Given the description of an element on the screen output the (x, y) to click on. 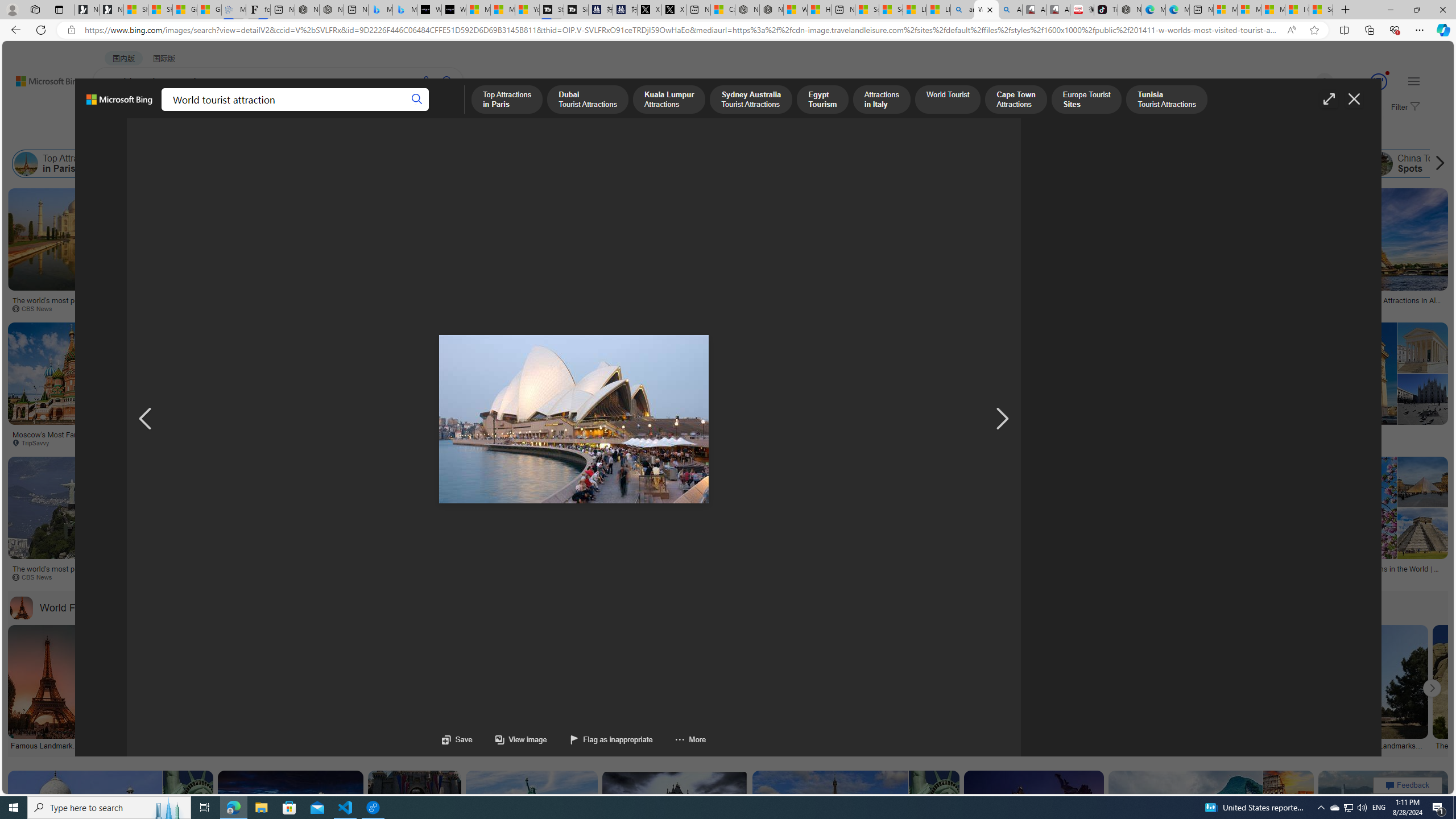
Feedback (1407, 785)
DICT (357, 111)
See more (801, 608)
The world's most popular tourist attractions (398, 572)
Sydney Australia Tourist Attractions (404, 163)
Top 10 World Famous Attractions of Dubai (884, 572)
blogspot.com (1291, 442)
World Famous Landmarks (21, 607)
The world's most popular tourist attractions - CBS News (749, 572)
